Given the description of an element on the screen output the (x, y) to click on. 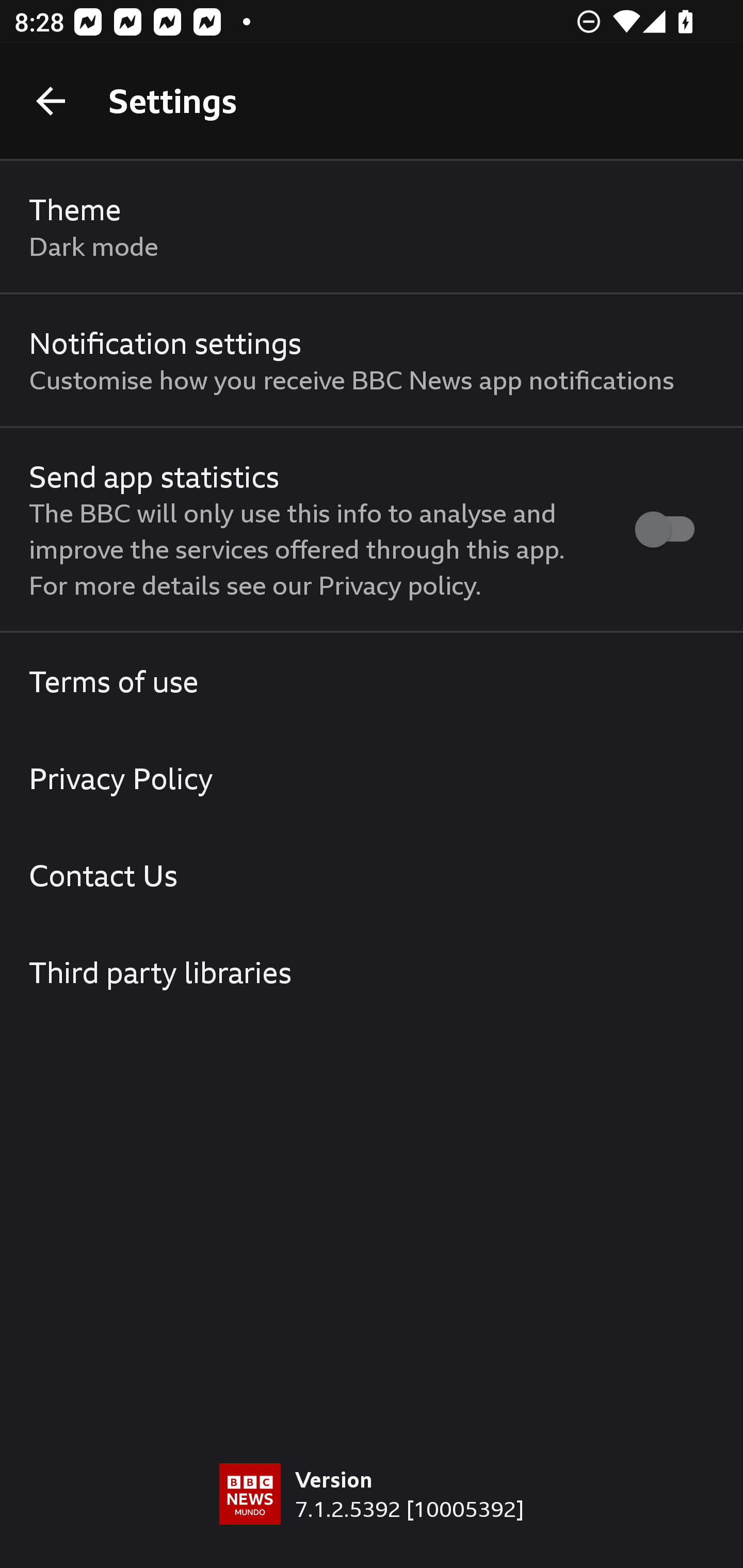
Back (50, 101)
Theme Dark mode (371, 227)
Terms of use (371, 681)
Privacy Policy (371, 777)
Contact Us (371, 874)
Third party libraries (371, 971)
Version 7.1.2.5392 [10005392] (371, 1515)
